Given the description of an element on the screen output the (x, y) to click on. 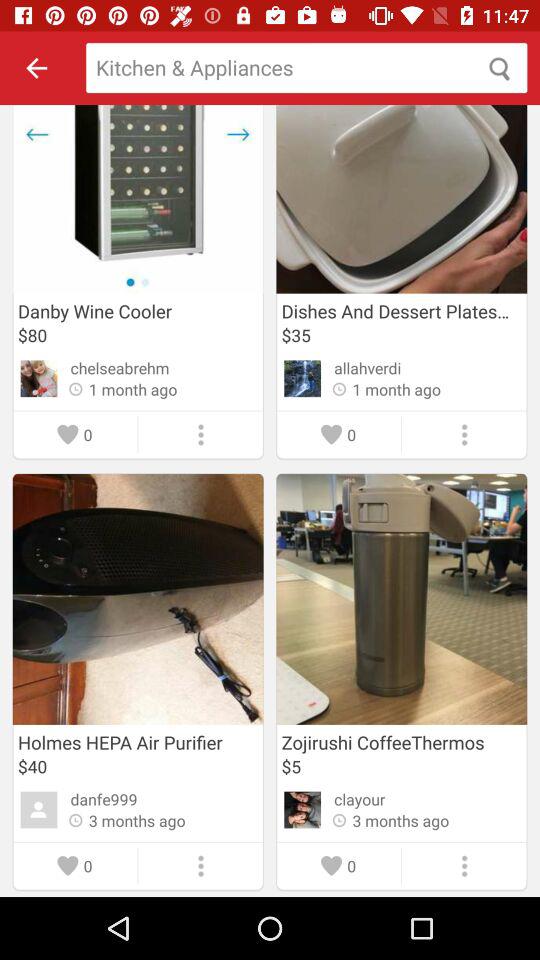
tap icon above 3 months ago item (103, 799)
